Given the description of an element on the screen output the (x, y) to click on. 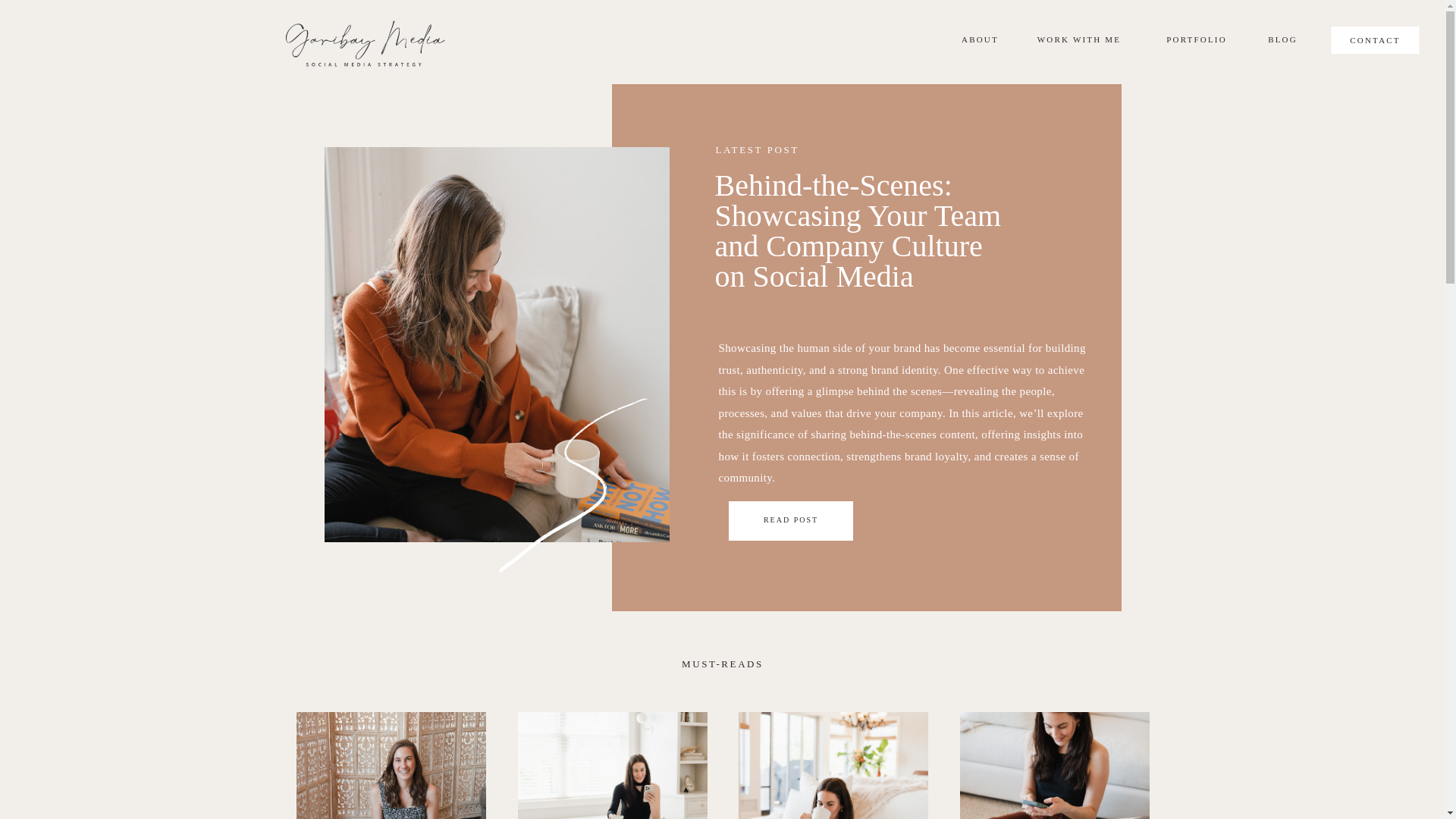
ABOUT (979, 39)
CONTACT (1375, 42)
BLOG (1282, 41)
PORTFOLIO (1195, 39)
WORK WITH ME (1078, 39)
READ POST (790, 519)
